Given the description of an element on the screen output the (x, y) to click on. 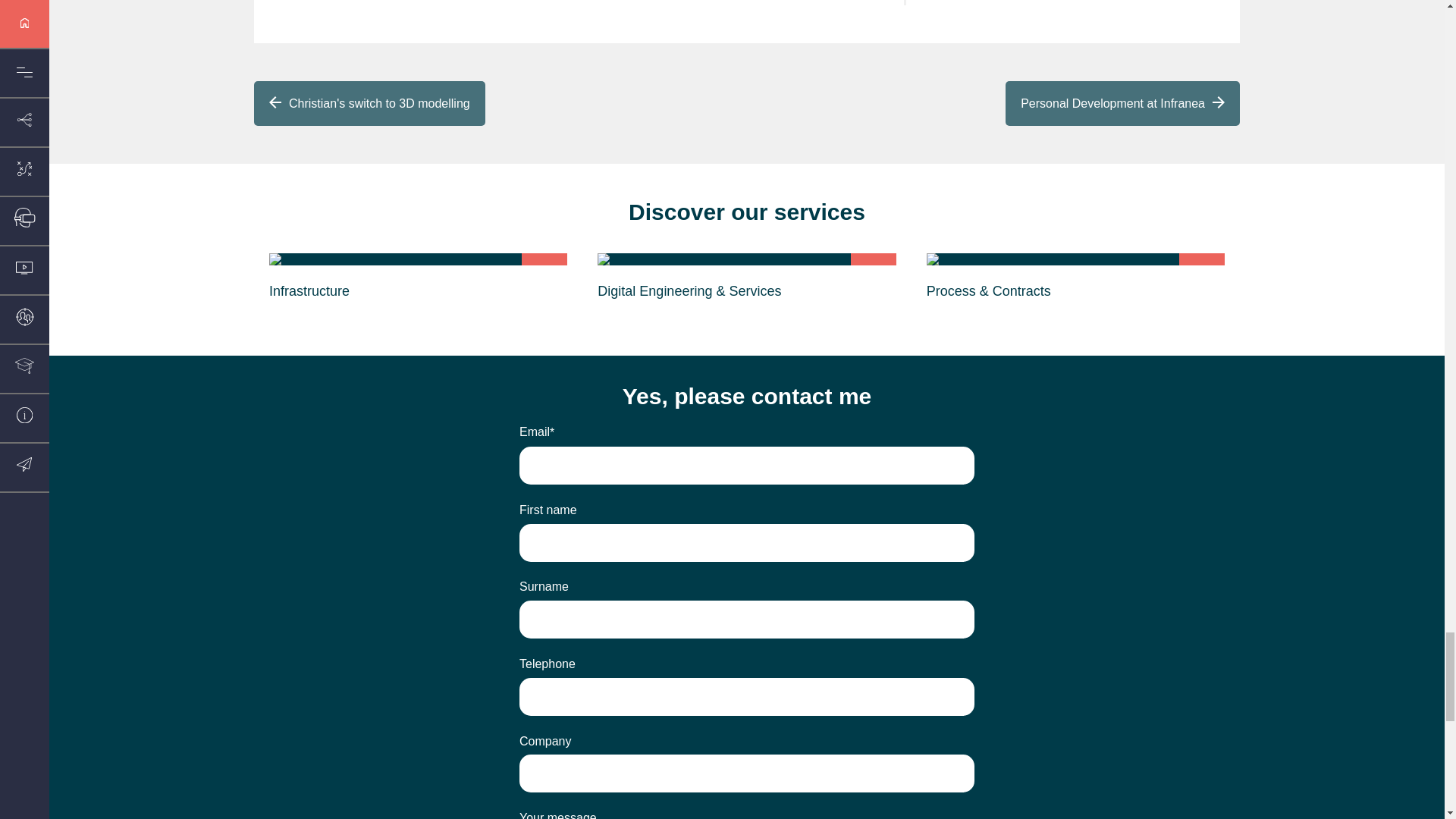
Personal Development at Infranea (1123, 103)
Christian's switch to 3D modelling (368, 103)
